Given the description of an element on the screen output the (x, y) to click on. 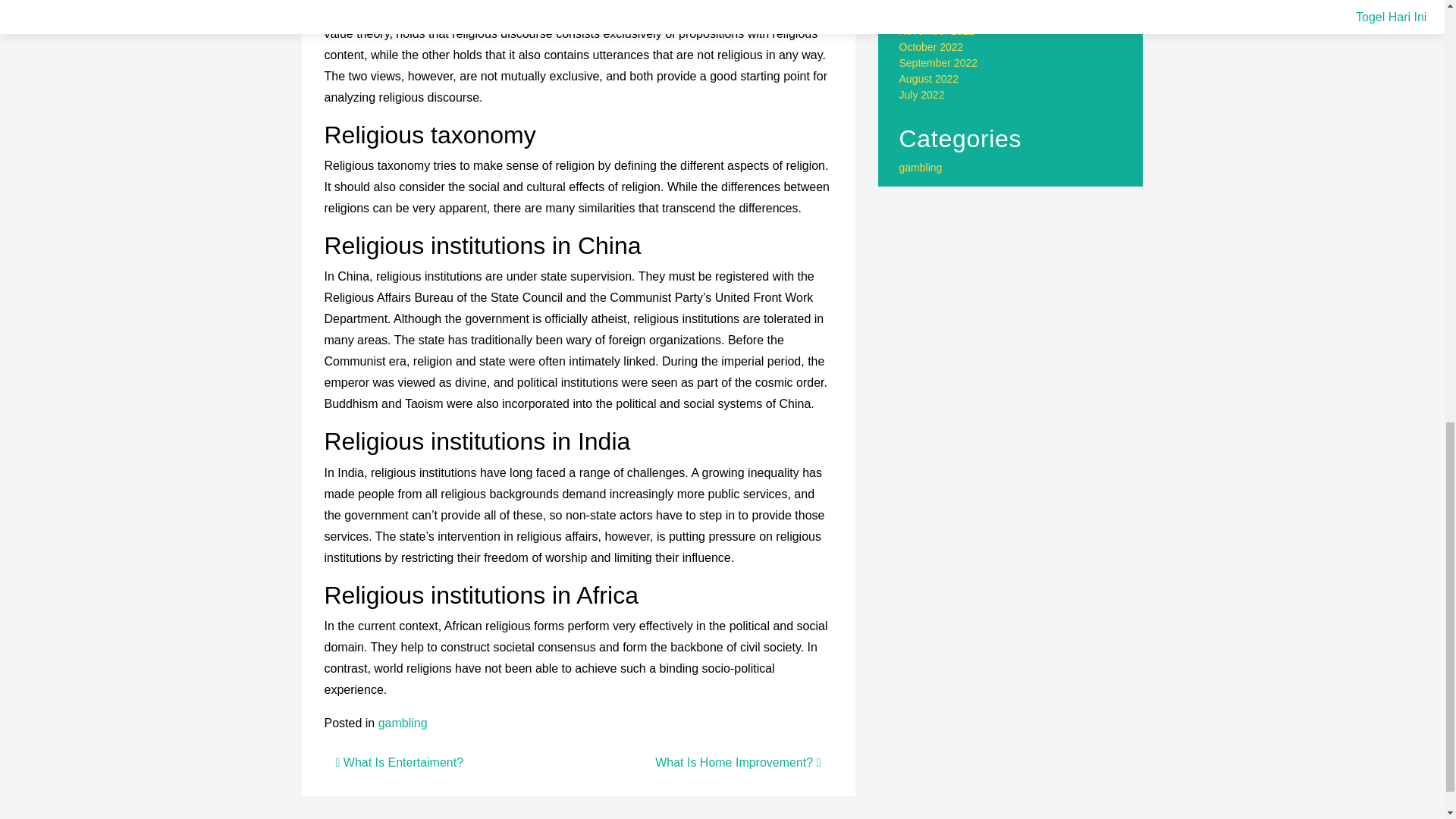
December 2022 (937, 15)
September 2022 (938, 62)
 What Is Entertaiment? (398, 762)
gambling (403, 722)
January 2023 (931, 2)
November 2022 (937, 30)
October 2022 (931, 46)
gambling (920, 167)
July 2022 (921, 94)
What Is Home Improvement?  (738, 762)
